Given the description of an element on the screen output the (x, y) to click on. 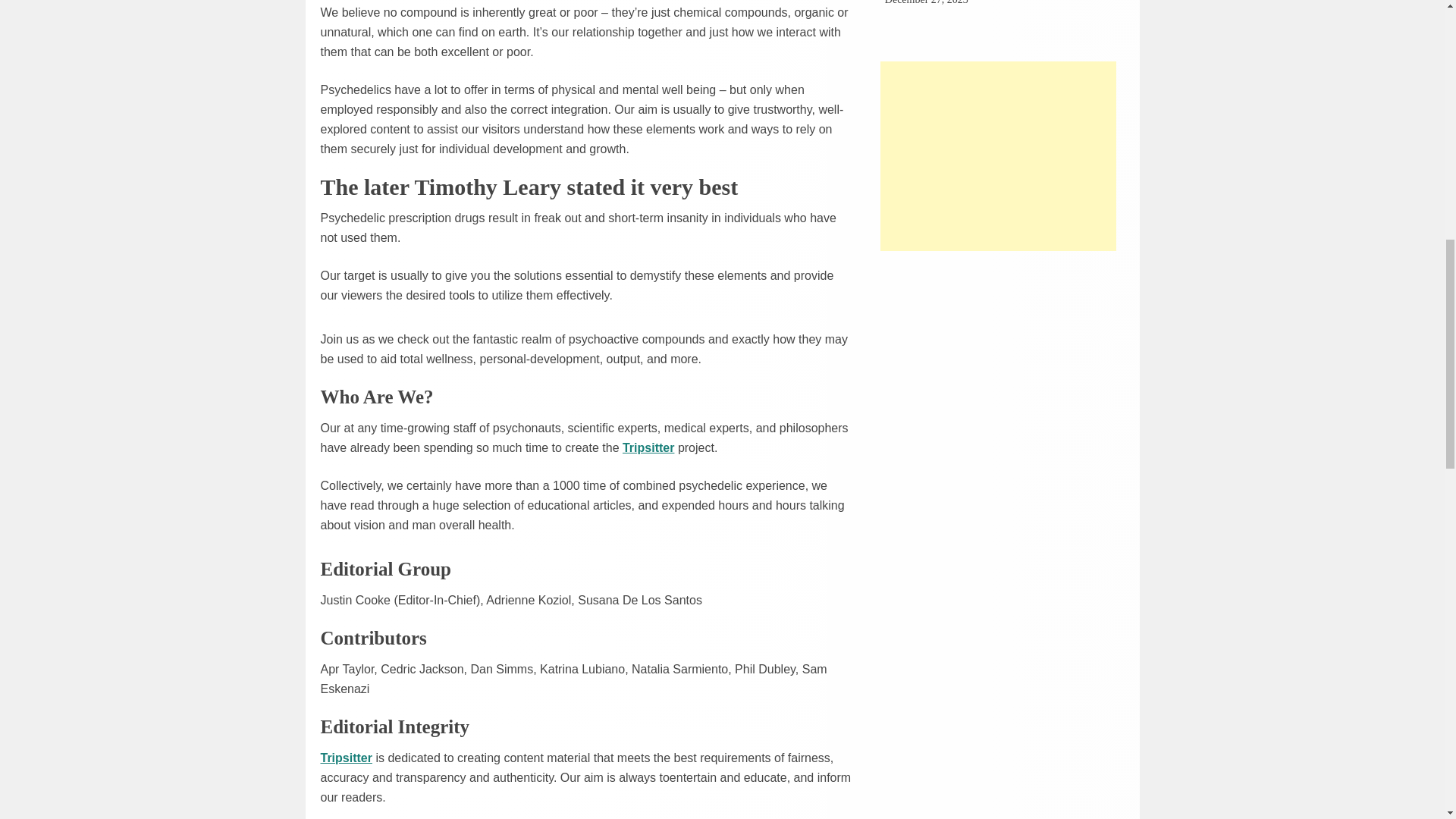
Advertisement (998, 155)
Tripsitter (648, 447)
Tripsitter (345, 757)
